Given the description of an element on the screen output the (x, y) to click on. 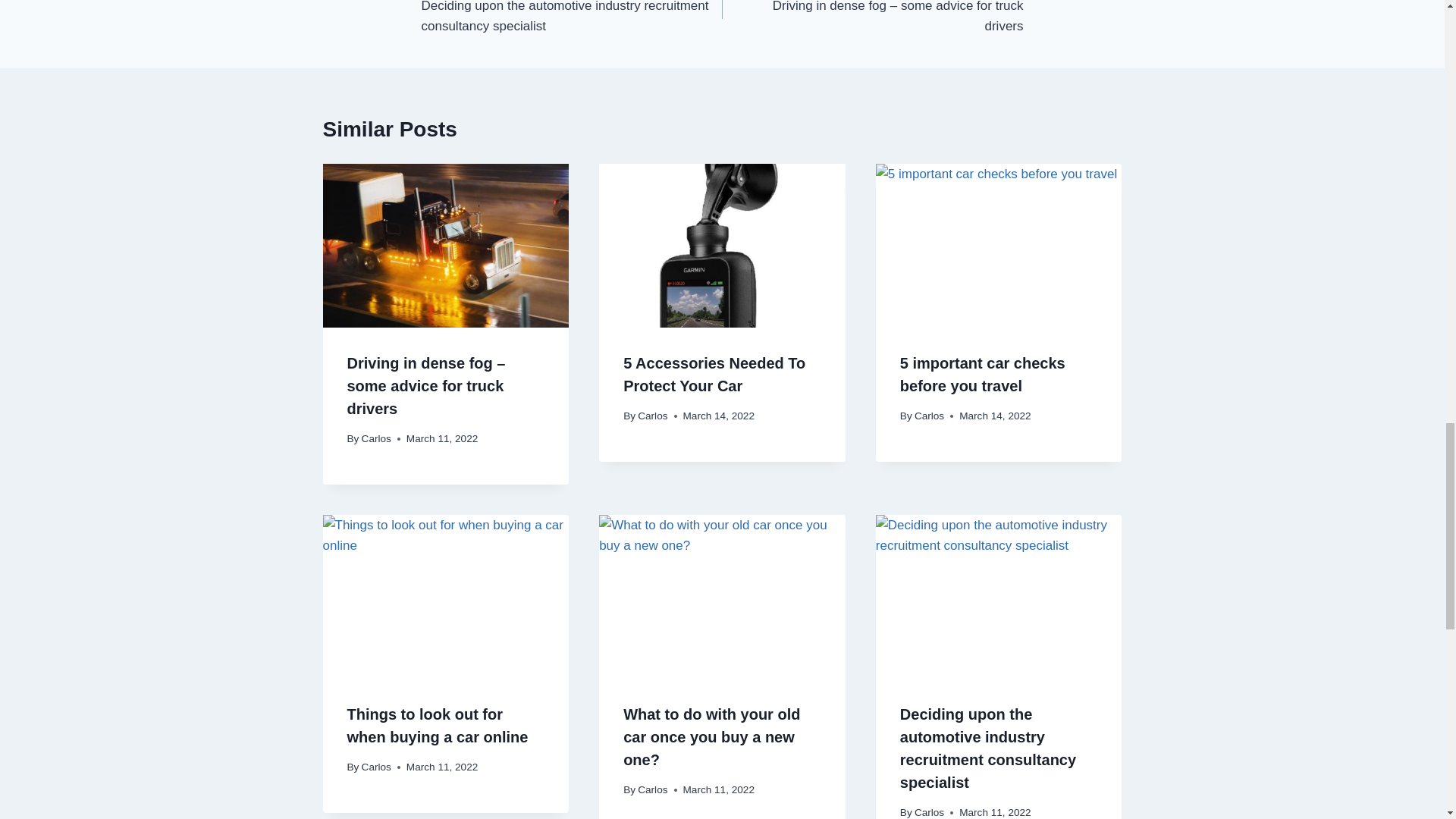
Carlos (651, 415)
Carlos (376, 767)
Things to look out for when buying a car online (437, 725)
Carlos (928, 415)
5 Accessories Needed To Protect Your Car (714, 373)
5 important car checks before you travel (982, 373)
Carlos (376, 438)
